Given the description of an element on the screen output the (x, y) to click on. 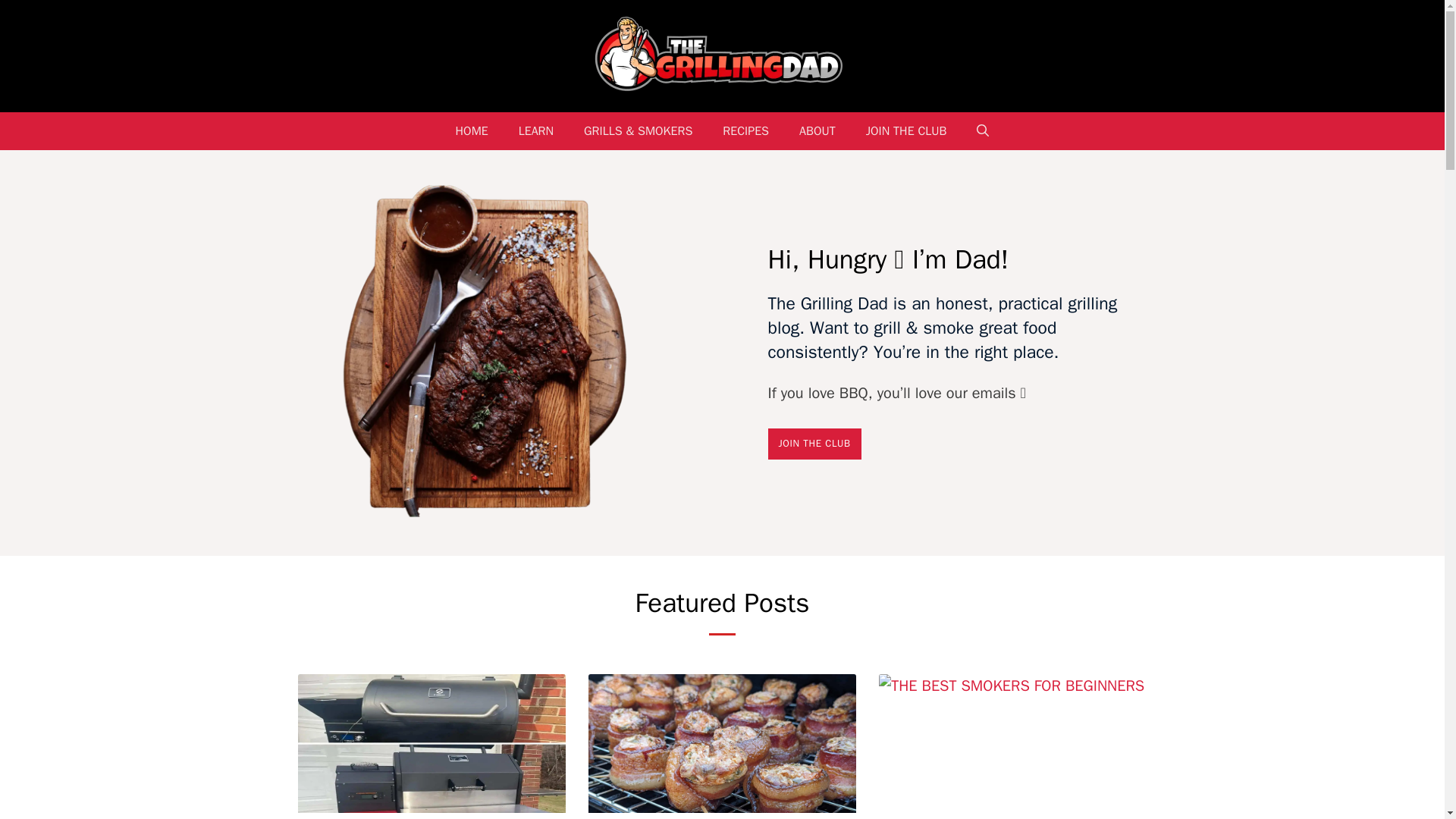
LEARN (536, 130)
JOIN THE CLUB (813, 443)
ABOUT (817, 130)
JOIN THE CLUB (906, 130)
HOME (472, 130)
RECIPES (745, 130)
